Given the description of an element on the screen output the (x, y) to click on. 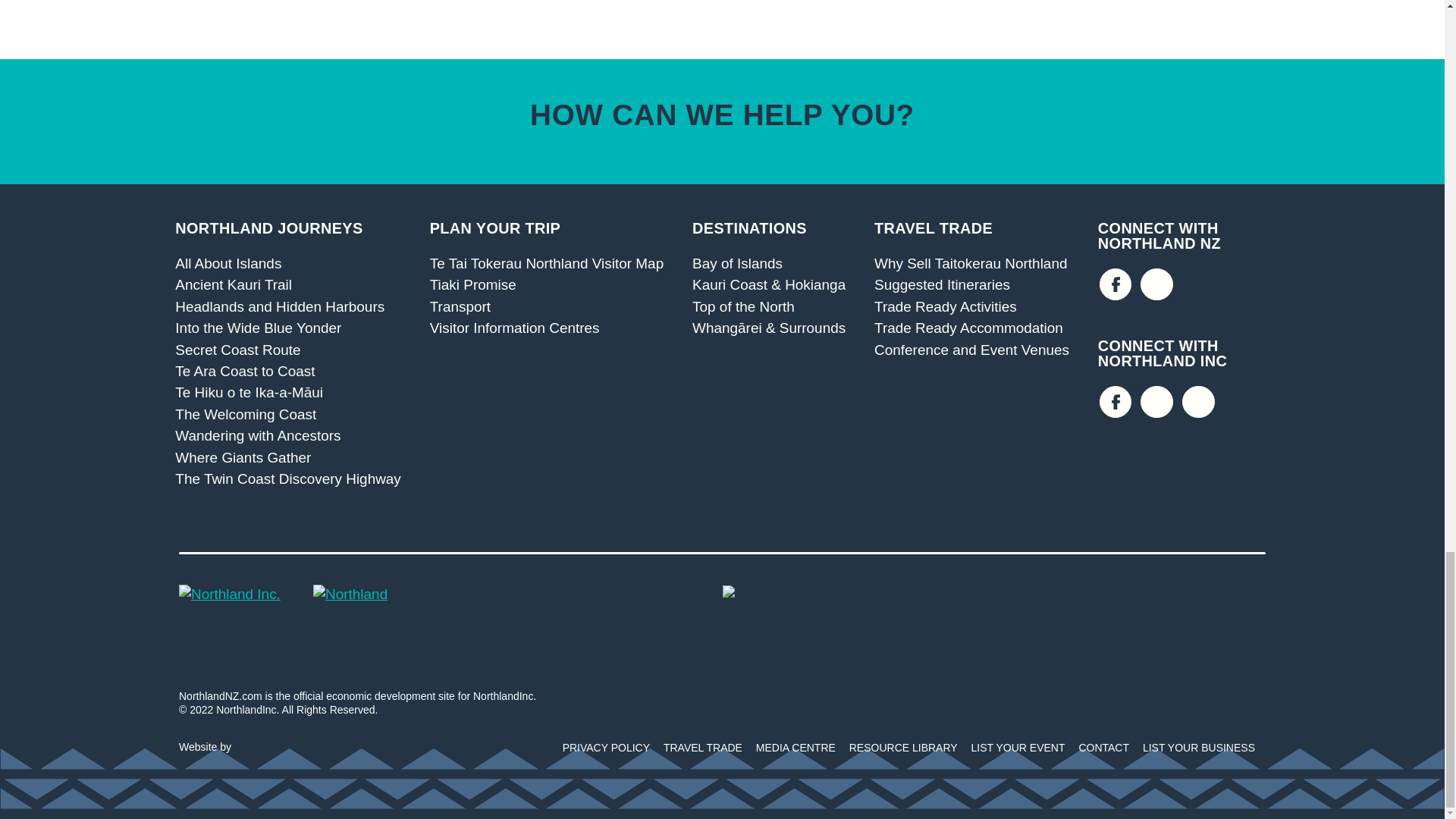
Connect on Instagram (1156, 401)
Connect on Facebook (1115, 401)
Connect on Instagram (1156, 284)
Connect on LinkedIn (1198, 401)
Connect on Facebook (1115, 284)
